Given the description of an element on the screen output the (x, y) to click on. 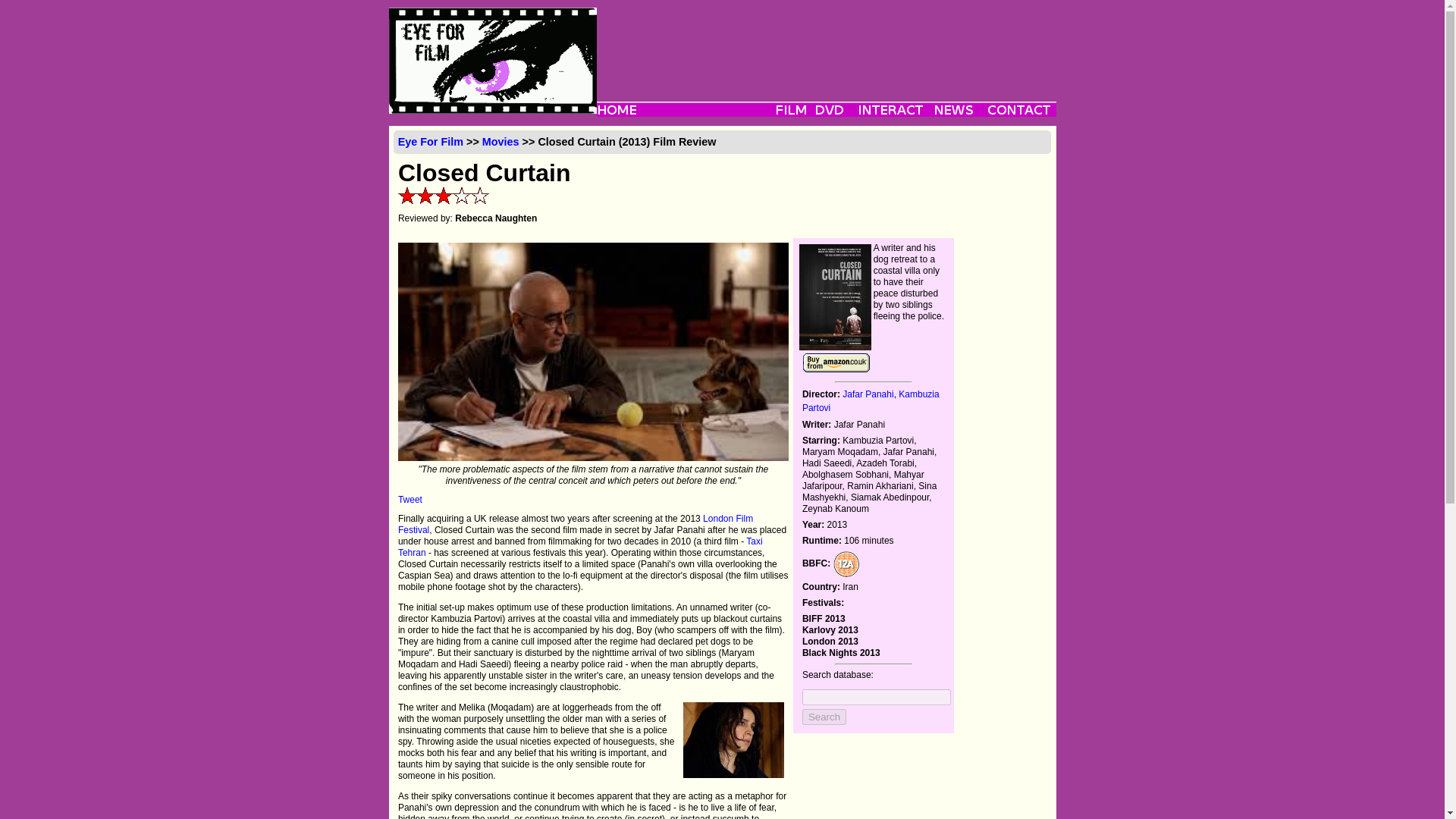
Kambuzia Partovi (870, 401)
Advertisement (825, 41)
Taxi Tehran (579, 546)
London Film Festival (574, 524)
Movies (500, 141)
Rebecca Naughten (495, 217)
Eye For Film (430, 141)
Tweet (409, 499)
Jafar Panahi (868, 394)
Search (823, 716)
